Given the description of an element on the screen output the (x, y) to click on. 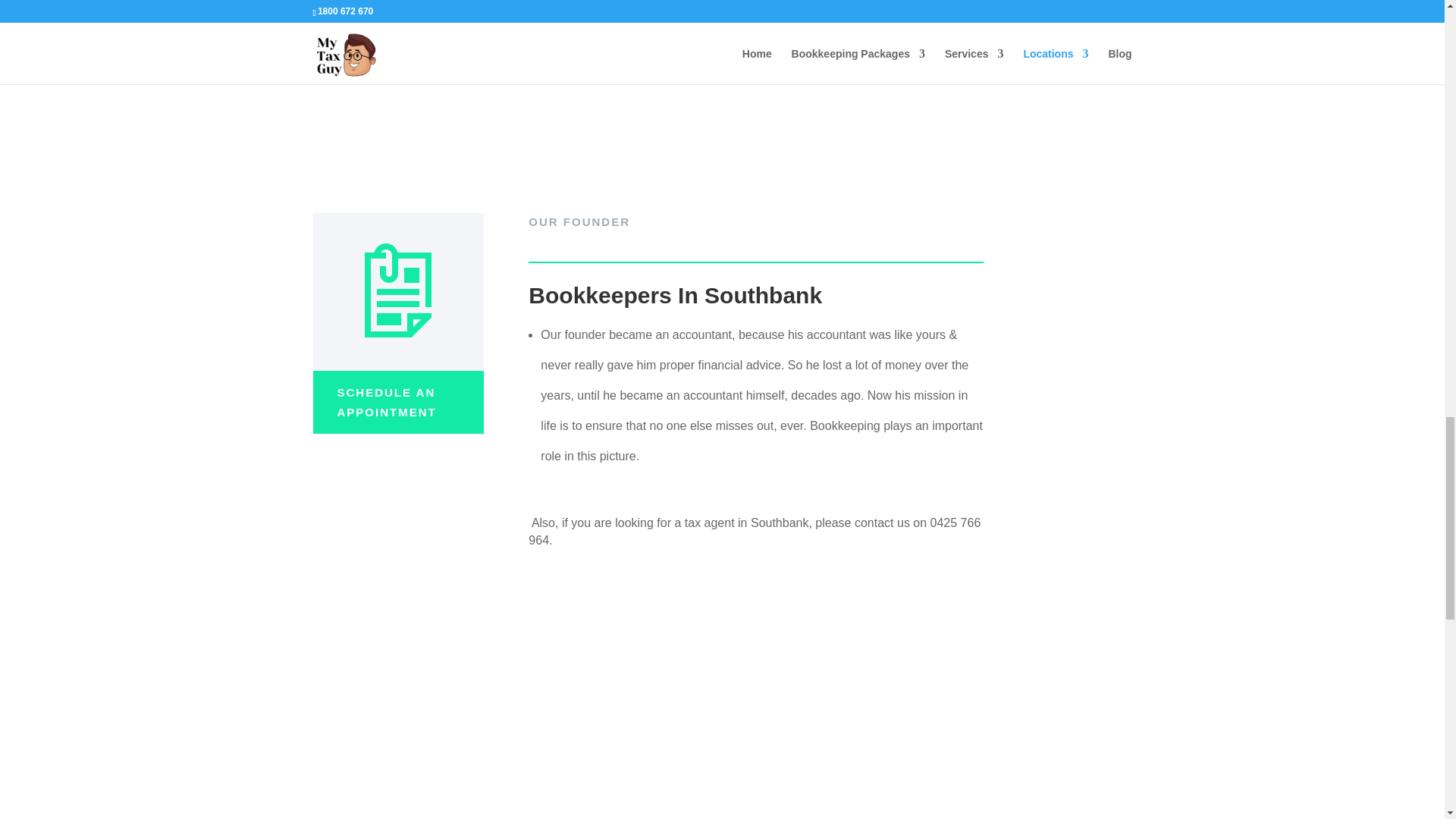
accountant-icon-1-green (397, 291)
